Given the description of an element on the screen output the (x, y) to click on. 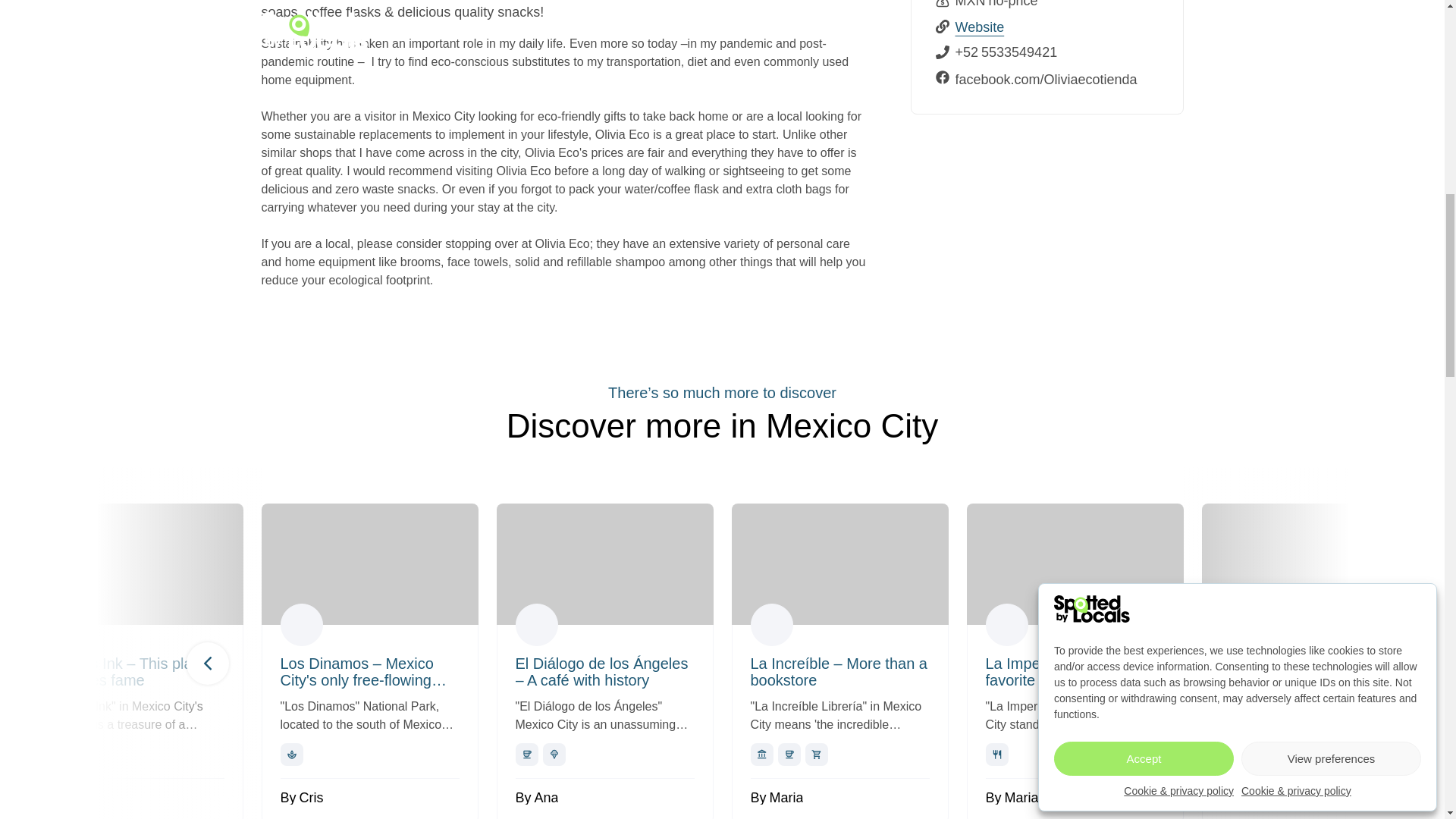
marianagonzalez (1006, 624)
crisguasch (1242, 624)
crisguasch (302, 624)
crisguasch (66, 624)
mariafernandagarcia (772, 624)
anacrischavez (536, 624)
